Given the description of an element on the screen output the (x, y) to click on. 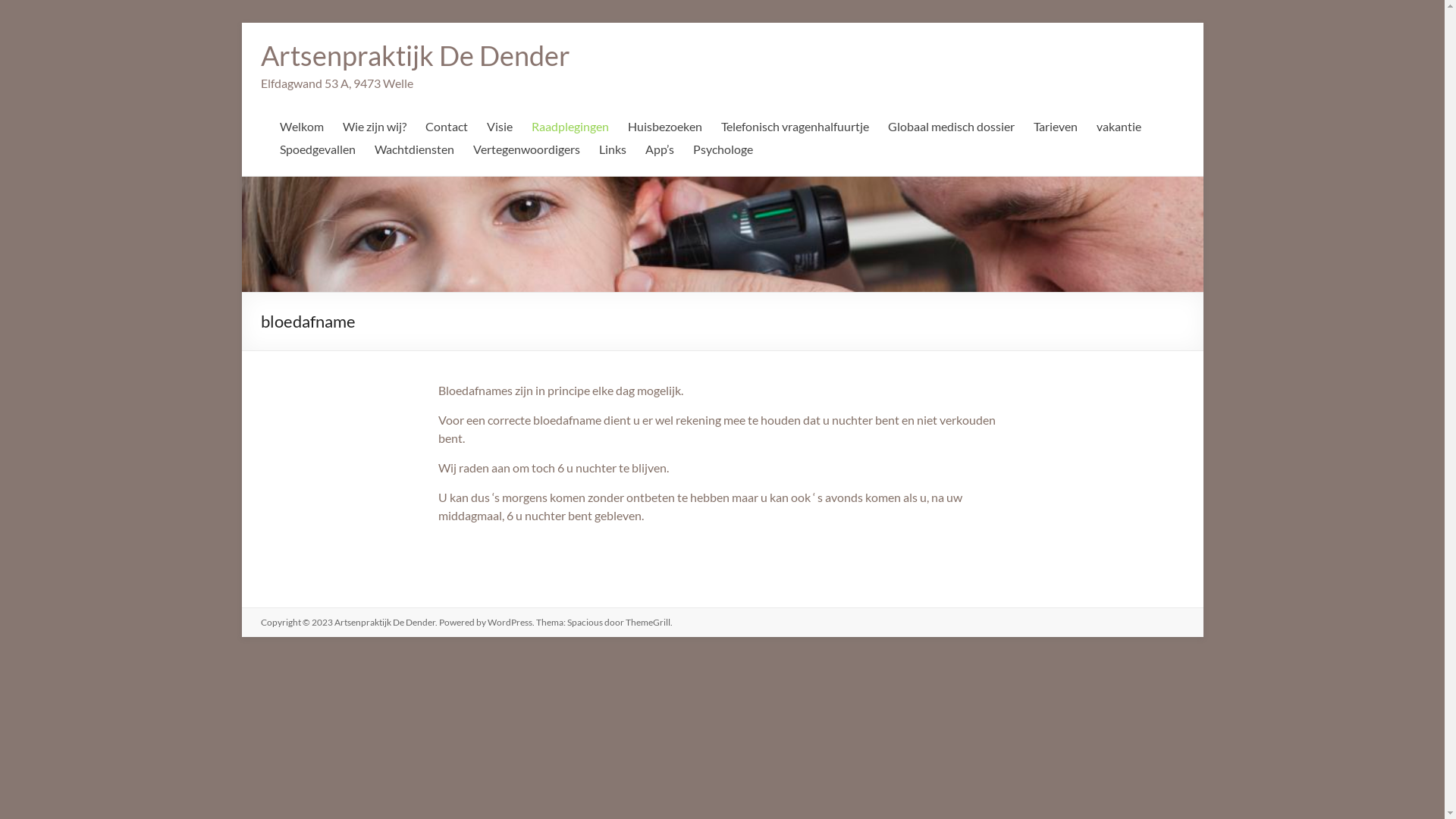
Spoedgevallen Element type: text (316, 152)
Wachtdiensten Element type: text (414, 152)
vakantie Element type: text (1118, 130)
Visie Element type: text (499, 130)
Artsenpraktijk De Dender Element type: text (383, 621)
Contact Element type: text (445, 130)
Raadplegingen Element type: text (569, 130)
Huisbezoeken Element type: text (664, 130)
Psychologe Element type: text (723, 152)
Tarieven Element type: text (1054, 130)
Links Element type: text (612, 152)
Welkom Element type: text (301, 130)
Telefonisch vragenhalfuurtje Element type: text (794, 130)
Globaal medisch dossier Element type: text (950, 130)
WordPress Element type: text (508, 621)
Vertegenwoordigers Element type: text (526, 152)
Artsenpraktijk De Dender Element type: text (415, 55)
Wie zijn wij? Element type: text (374, 130)
ThemeGrill Element type: text (646, 621)
